Given the description of an element on the screen output the (x, y) to click on. 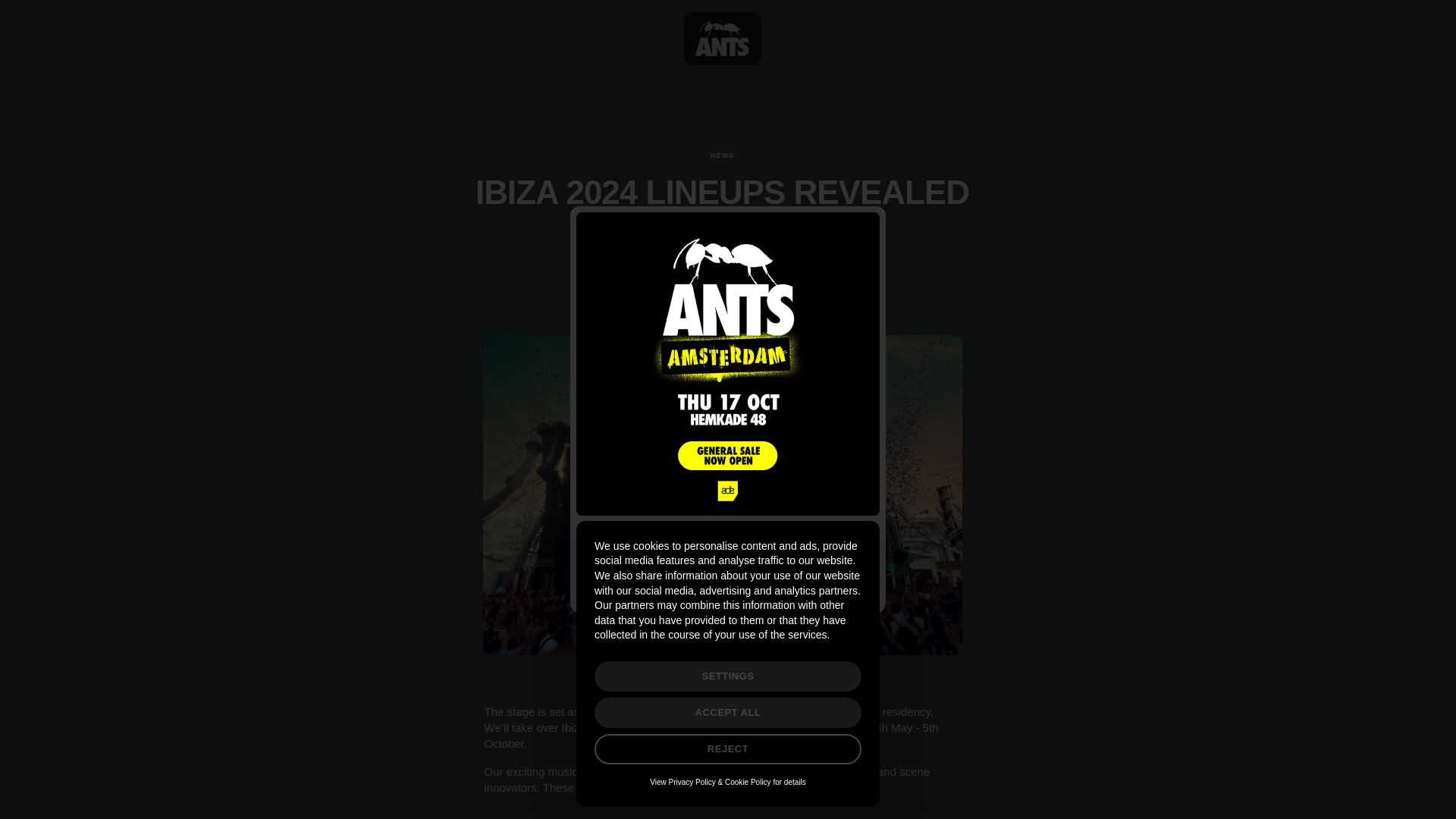
Cookie Policy (748, 782)
SETTINGS (727, 675)
ACCEPT ALL (727, 712)
Privacy Policy (692, 782)
ES (728, 812)
JOIN US. (727, 575)
REJECT (727, 748)
EN (703, 812)
